Given the description of an element on the screen output the (x, y) to click on. 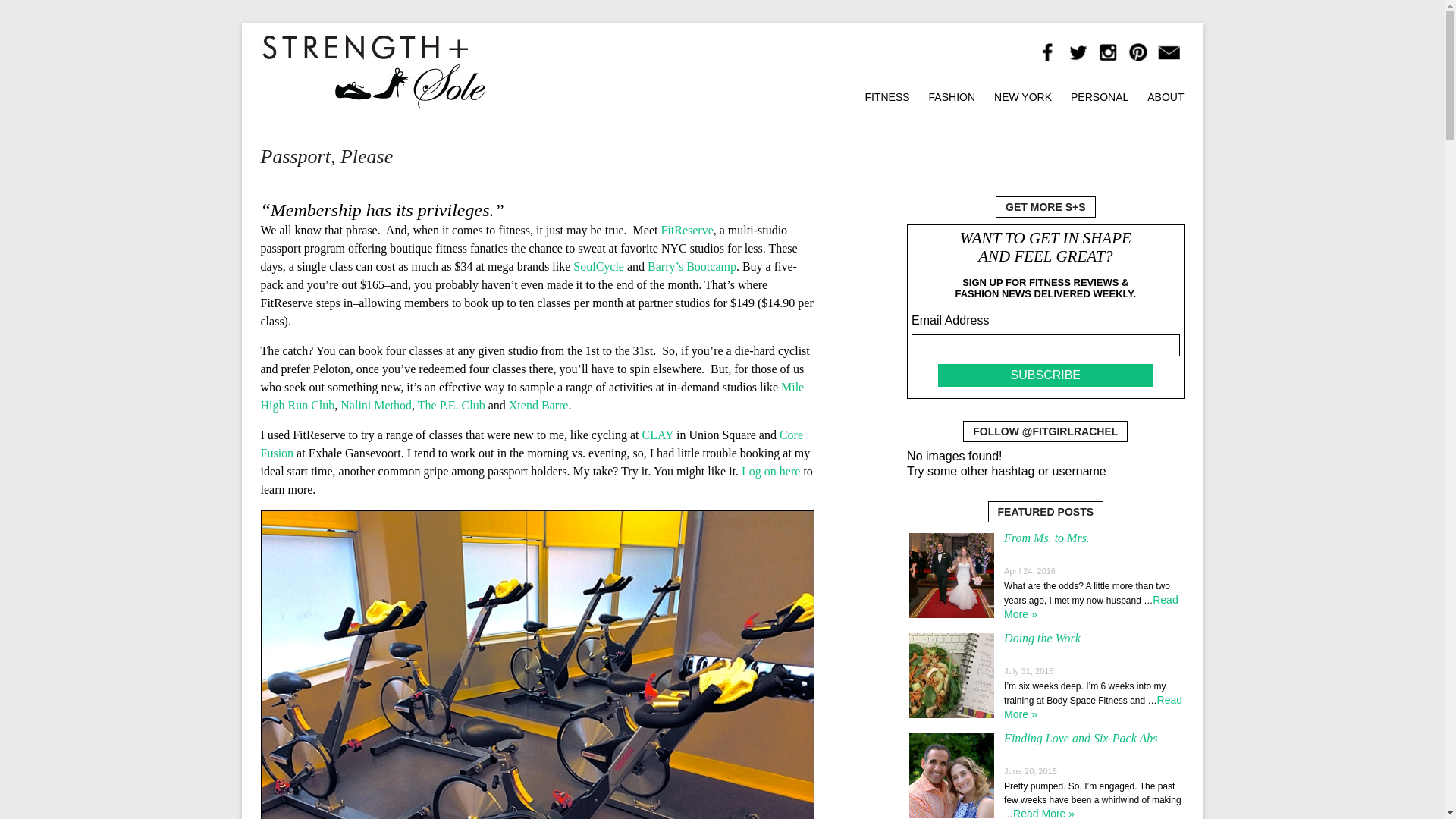
Log on here (770, 471)
PERSONAL (1099, 94)
Xtend Barre (538, 404)
FASHION (951, 94)
SoulCycle (598, 266)
NEW YORK (1022, 94)
Core Fusion (531, 443)
The P.E. Club (450, 404)
FitReserve NYC (770, 471)
SoulCycle (598, 266)
